Given the description of an element on the screen output the (x, y) to click on. 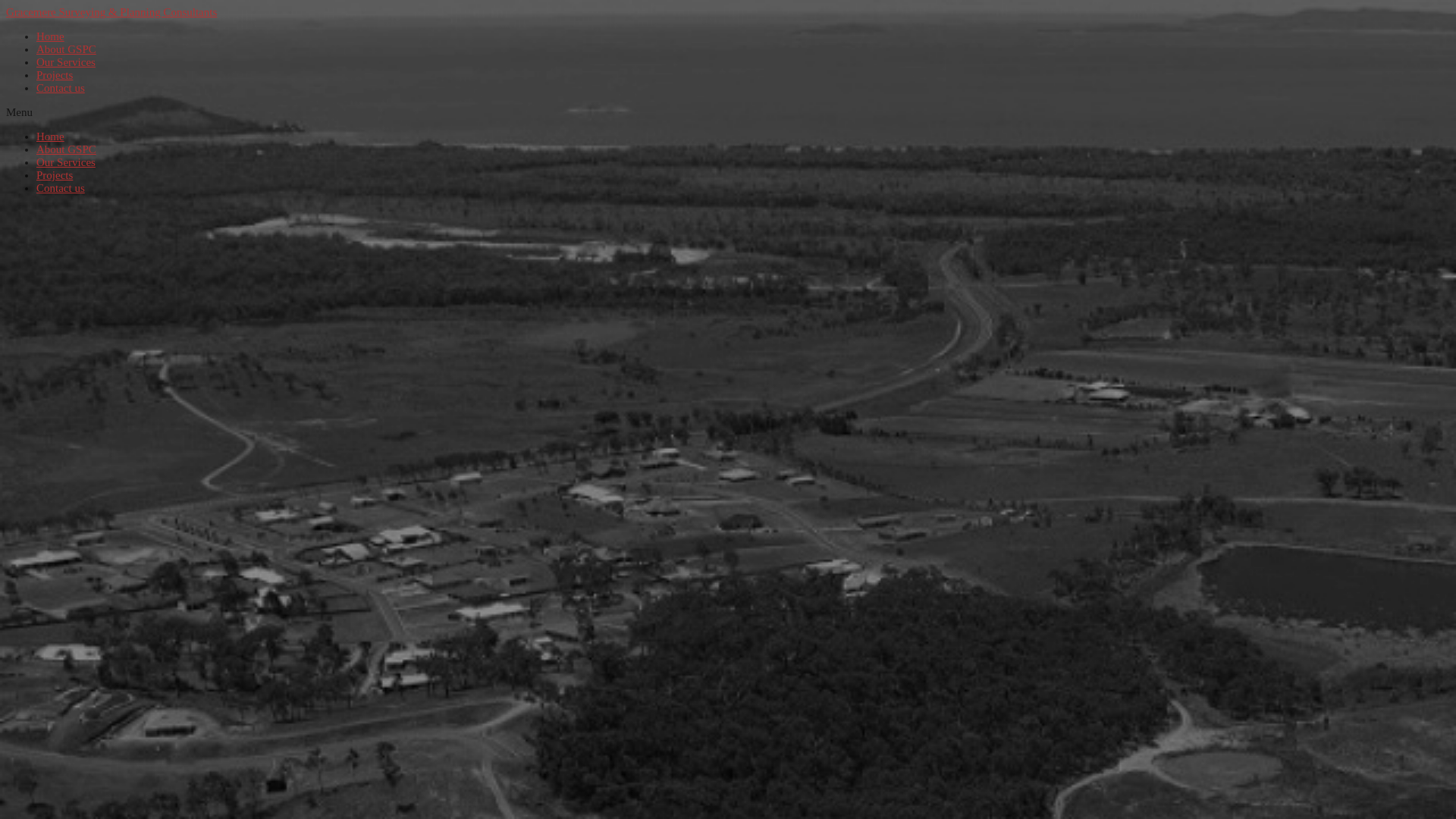
Projects Element type: text (54, 175)
Home Element type: text (50, 36)
Contact us Element type: text (60, 188)
Gracemere Surveying & Planning Consultants Element type: text (111, 12)
Home Element type: text (50, 136)
Our Services Element type: text (65, 62)
Our Services Element type: text (65, 162)
Contact us Element type: text (60, 87)
About GSPC Element type: text (66, 49)
About GSPC Element type: text (66, 149)
Projects Element type: text (54, 75)
